Given the description of an element on the screen output the (x, y) to click on. 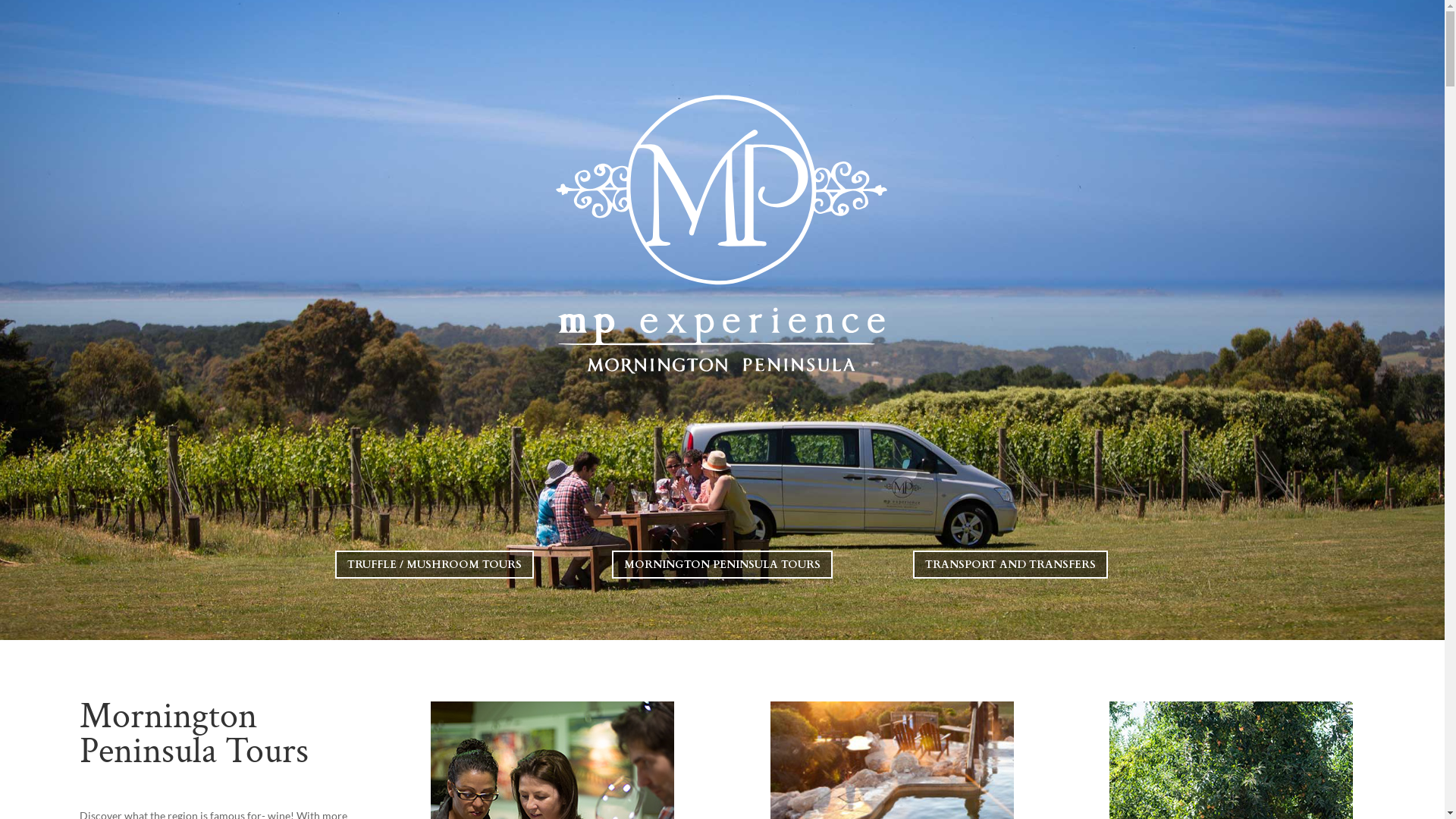
TRUFFLE / MUSHROOM TOURS Element type: text (434, 563)
MORNINGTON PENINSULA TOURS Element type: text (721, 563)
TRANSPORT AND TRANSFERS Element type: text (1010, 563)
